Given the description of an element on the screen output the (x, y) to click on. 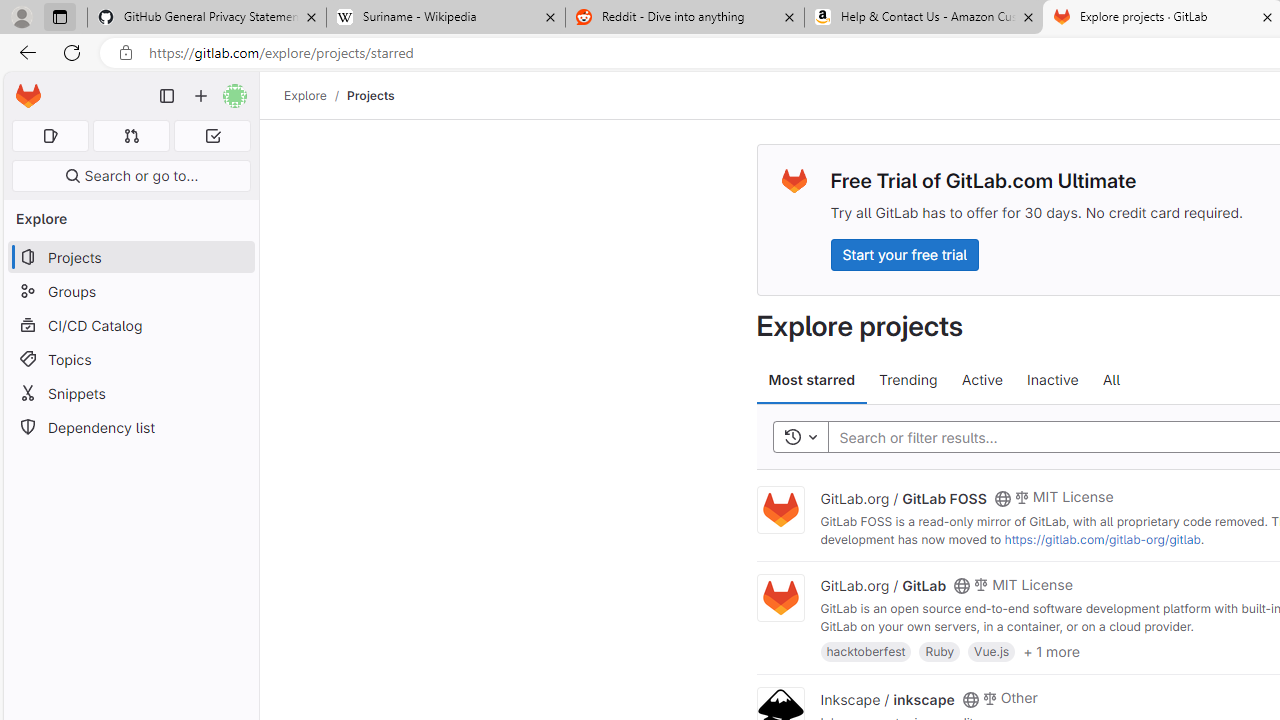
Explore (305, 95)
Snippets (130, 393)
GitHub General Privacy Statement - GitHub Docs (207, 17)
All (1111, 379)
Assigned issues 0 (50, 136)
Create new... (201, 96)
Most starred (811, 379)
hacktoberfest (866, 650)
Trending (907, 379)
Dependency list (130, 427)
Merge requests 0 (131, 136)
Inkscape / inkscape (887, 698)
Reddit - Dive into anything (684, 17)
Inactive (1052, 379)
